Given the description of an element on the screen output the (x, y) to click on. 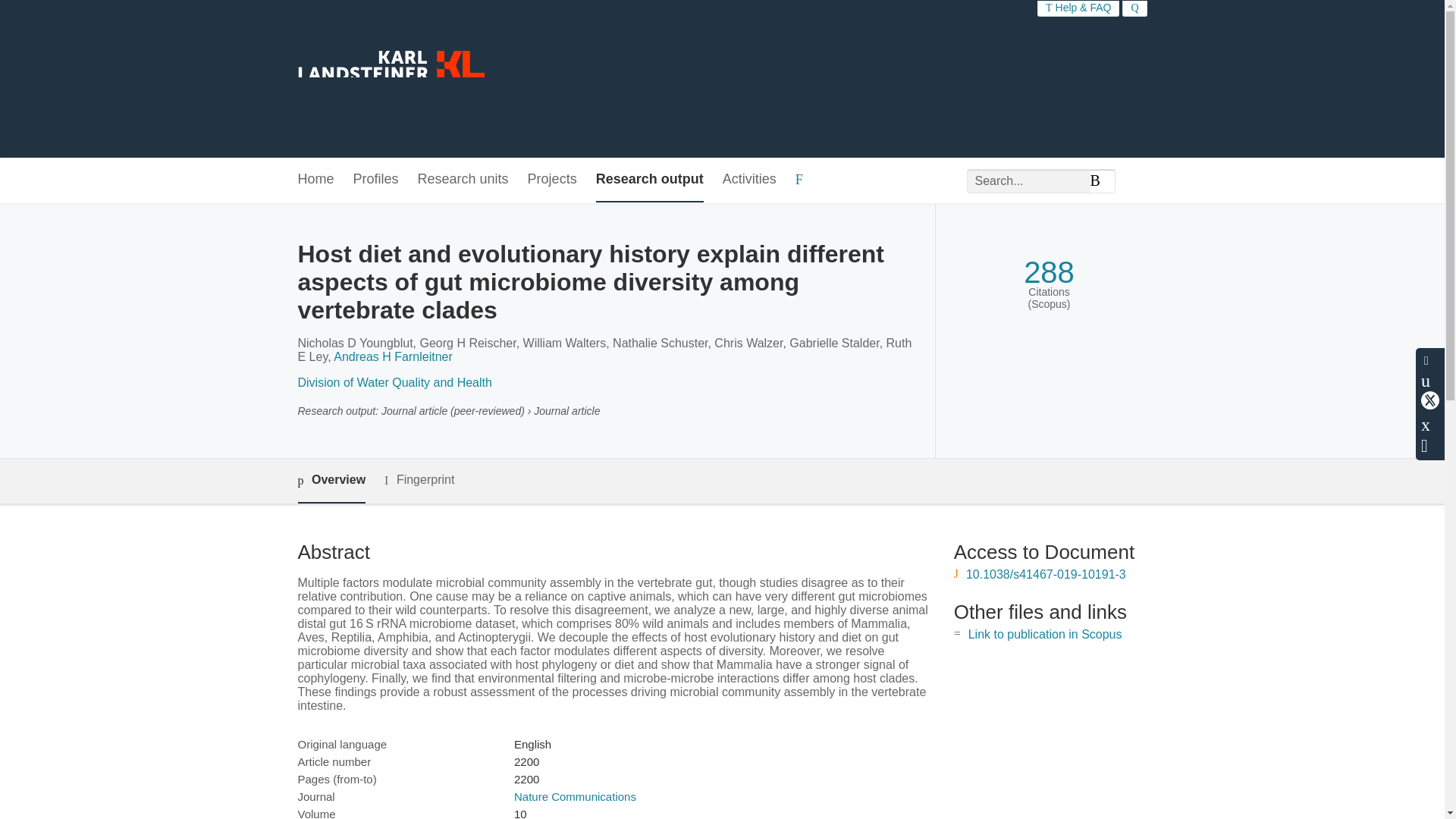
Fingerprint (419, 480)
Nature Communications (574, 796)
Karl Landsteiner University of Health Sciences Home (390, 78)
Research units (462, 180)
Link to publication in Scopus (1045, 634)
Division of Water Quality and Health (394, 382)
Profiles (375, 180)
288 (1048, 272)
Activities (749, 180)
Andreas H Farnleitner (392, 356)
Projects (551, 180)
Research output (649, 180)
Overview (331, 480)
